Given the description of an element on the screen output the (x, y) to click on. 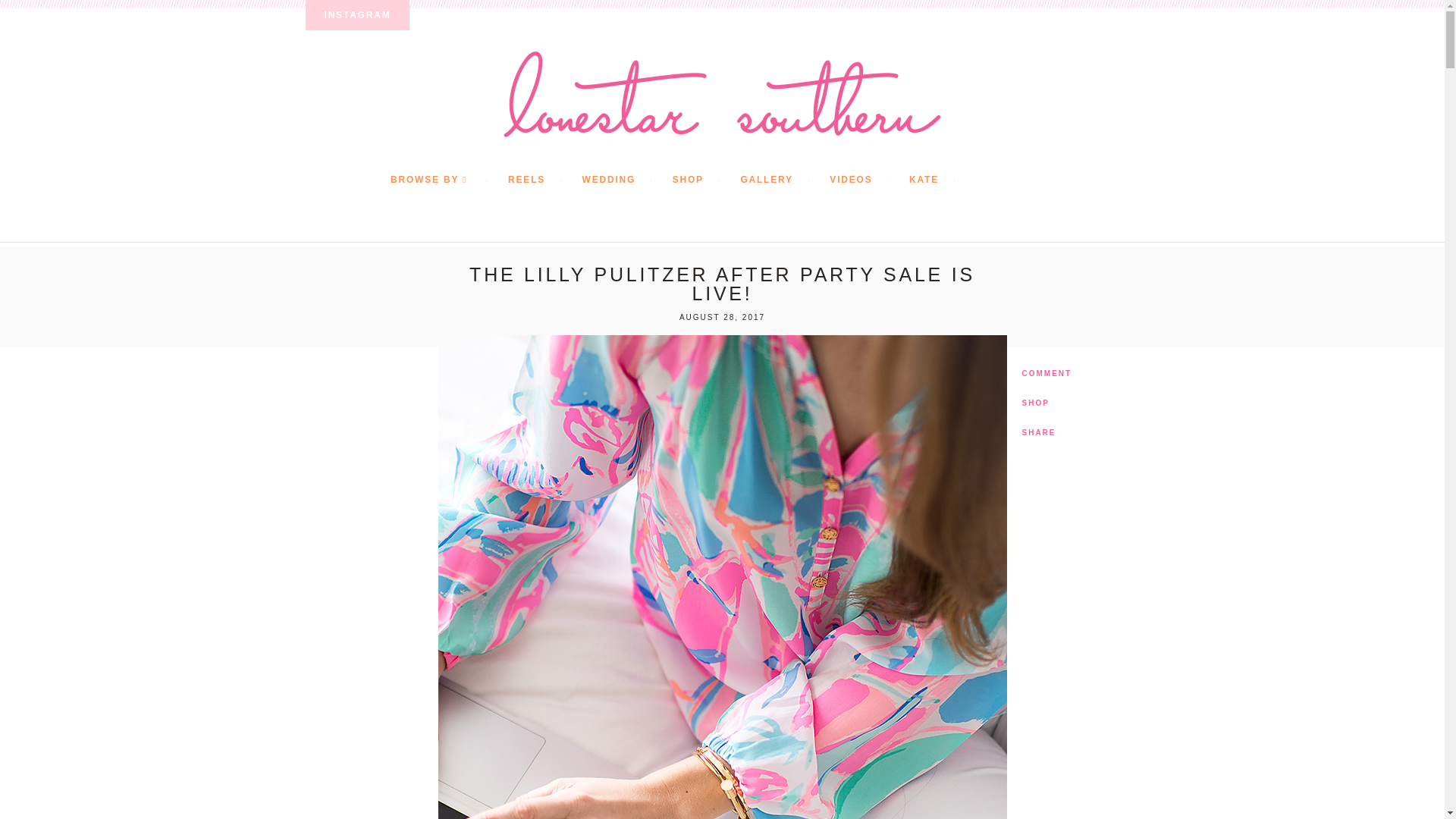
KATE (939, 179)
REELS (543, 179)
INSTAGRAM (356, 15)
